Given the description of an element on the screen output the (x, y) to click on. 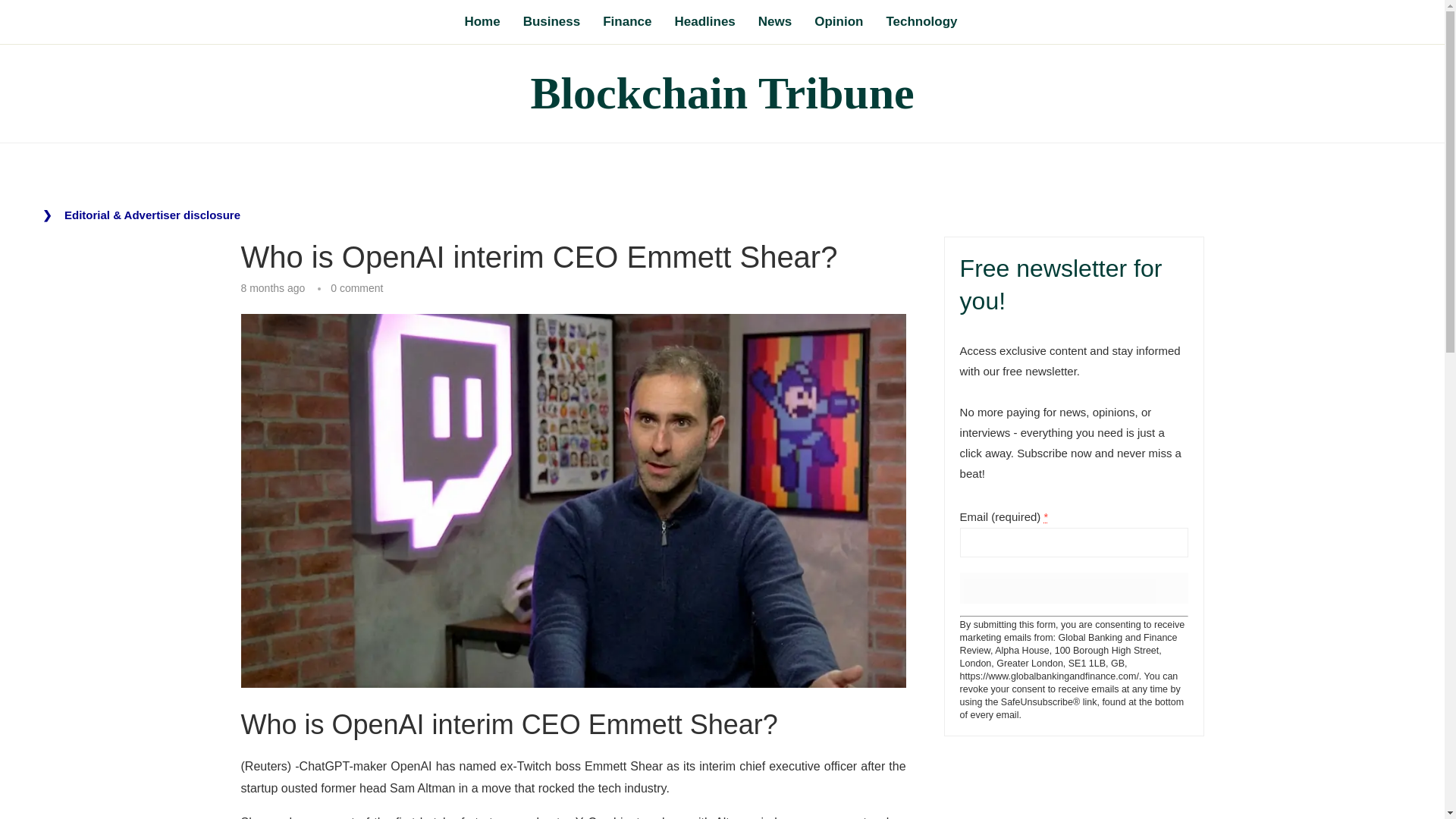
Finance (626, 22)
Technology (921, 22)
Home (481, 22)
Sign up!! (1073, 587)
Business (552, 22)
Headlines (703, 22)
Blockchain Tribune (722, 93)
Opinion (839, 22)
News (774, 22)
